Given the description of an element on the screen output the (x, y) to click on. 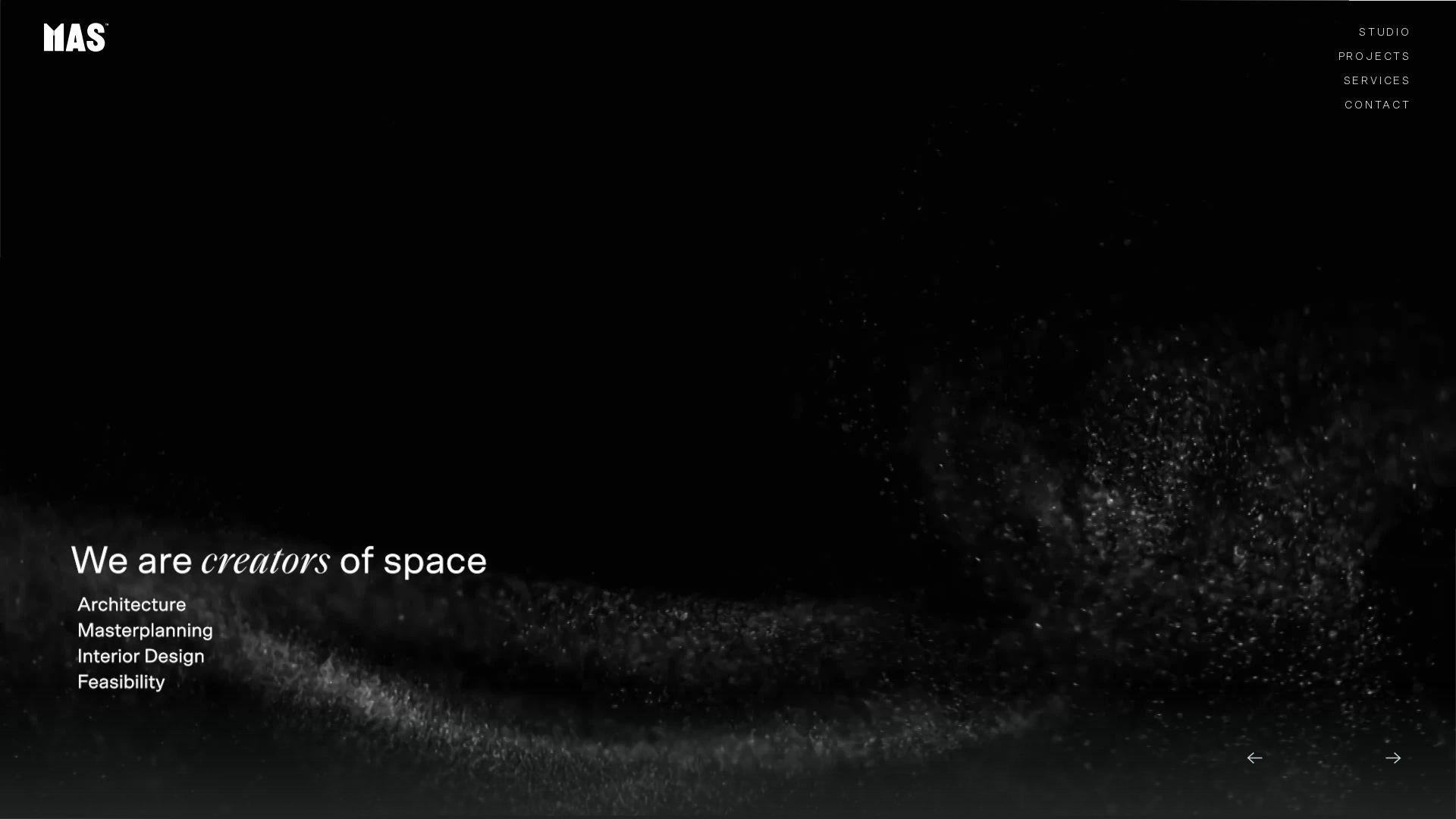
PROJECTS Element type: text (1302, 58)
STUDIO Element type: text (1302, 33)
SERVICES Element type: text (1302, 82)
CONTACT Element type: text (1302, 106)
